Given the description of an element on the screen output the (x, y) to click on. 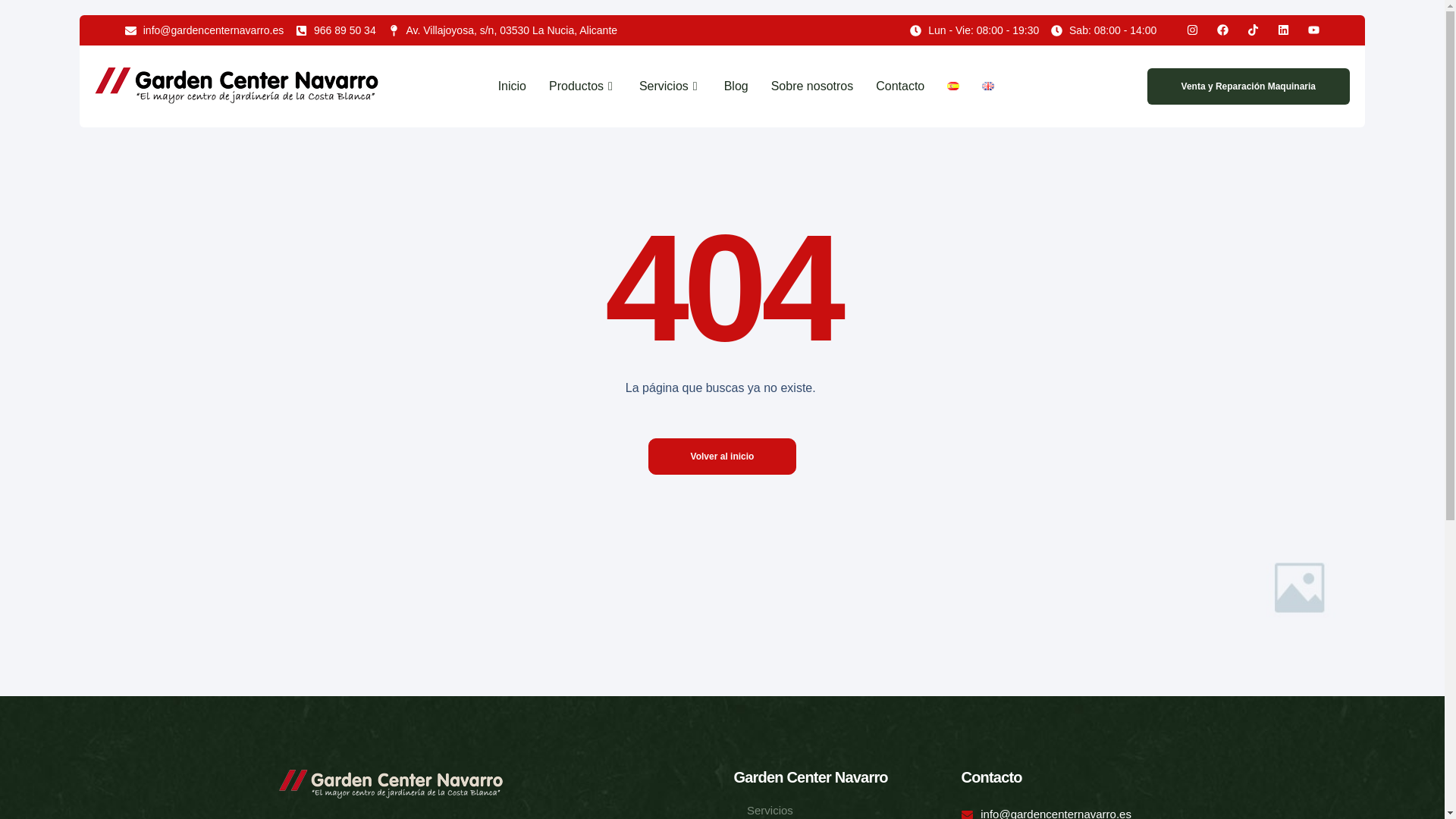
Inicio (517, 85)
Productos (582, 85)
966 89 50 34 (335, 30)
Servicios (670, 85)
